Given the description of an element on the screen output the (x, y) to click on. 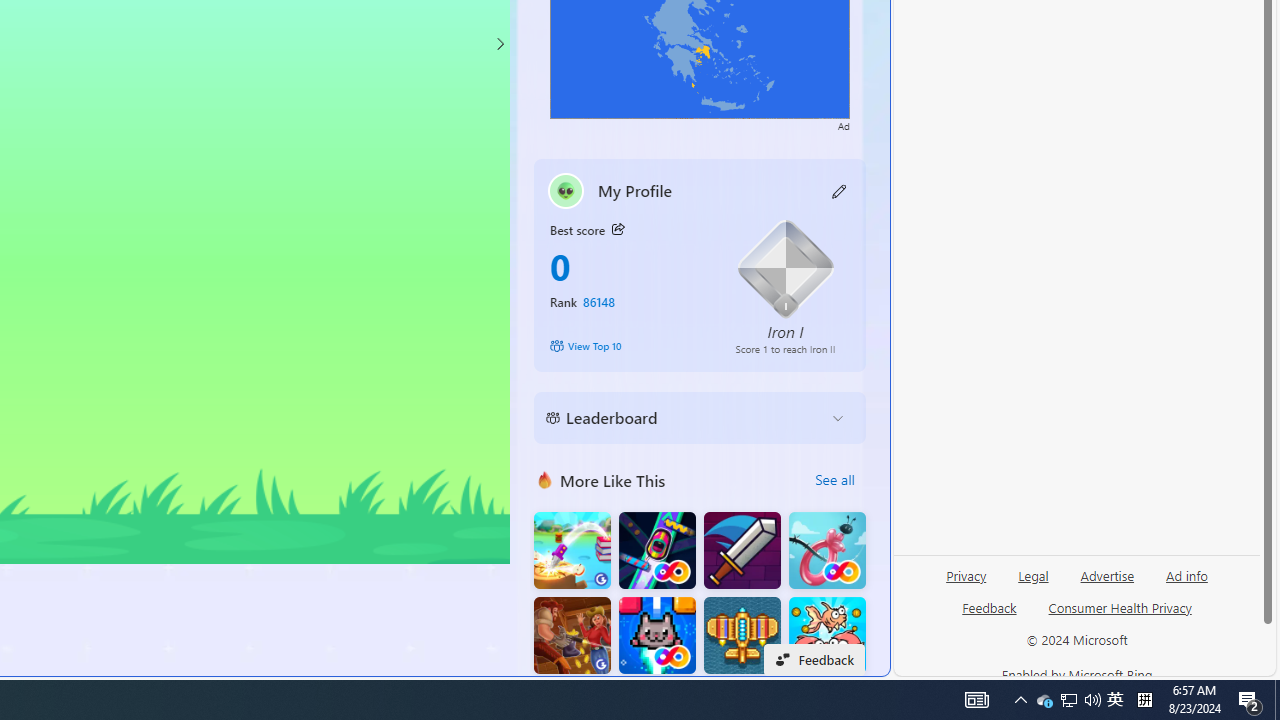
Leaderboard (683, 417)
See all (834, 479)
Consumer Health Privacy (1119, 615)
Saloon Robbery (571, 635)
google_privacy_policy_zh-CN.pdf (687, 482)
View Top 10 (628, 345)
